Given the description of an element on the screen output the (x, y) to click on. 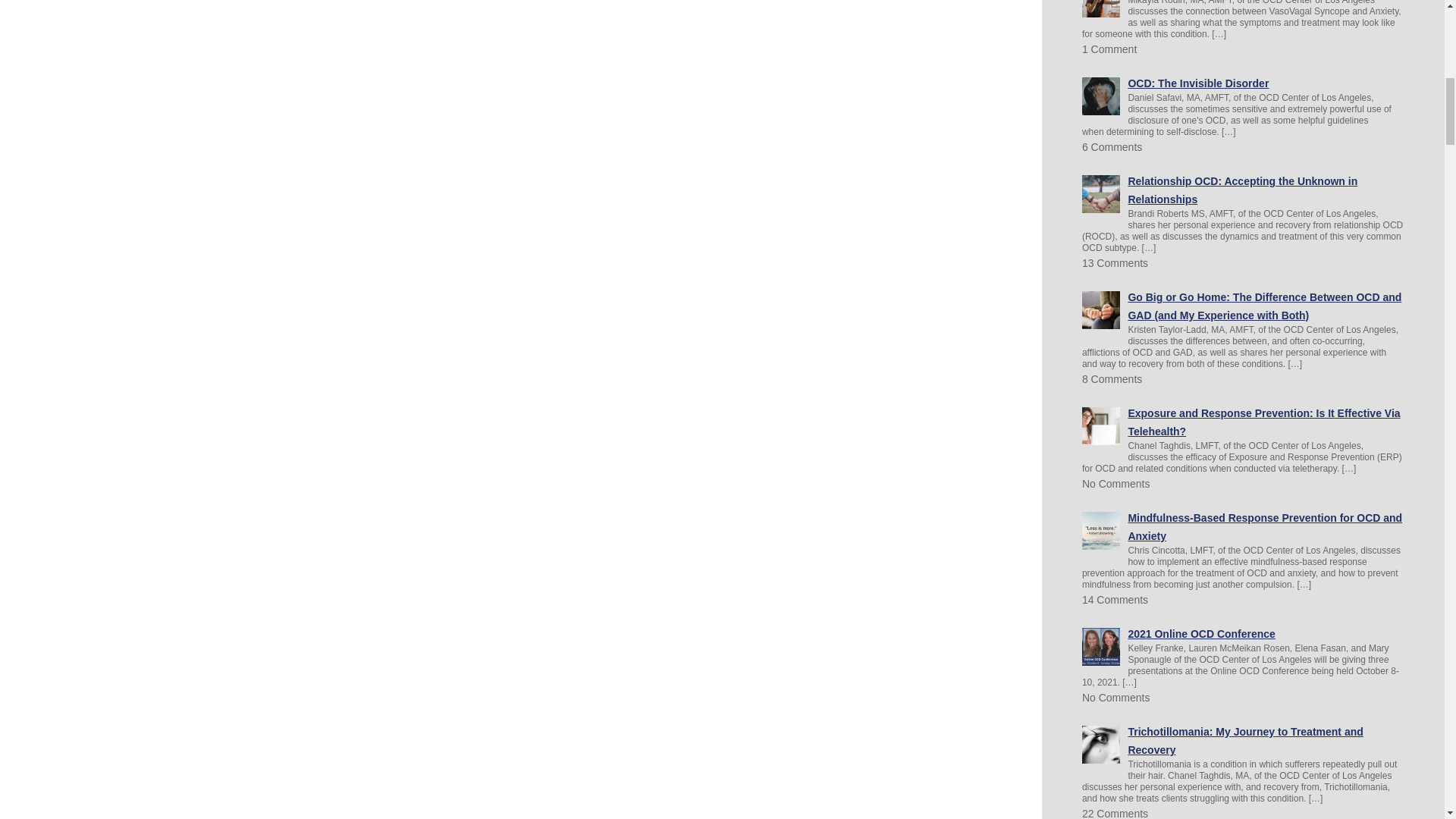
2021 Online OCD Conference (1200, 633)
OCD: The Invisible Disorder (1197, 82)
Trichotillomania: My Journey to Treatment and Recovery (1244, 740)
Relationship OCD: Accepting the Unknown in Relationships (1241, 190)
Mindfulness-Based Response Prevention for OCD and Anxiety (1264, 526)
